Given the description of an element on the screen output the (x, y) to click on. 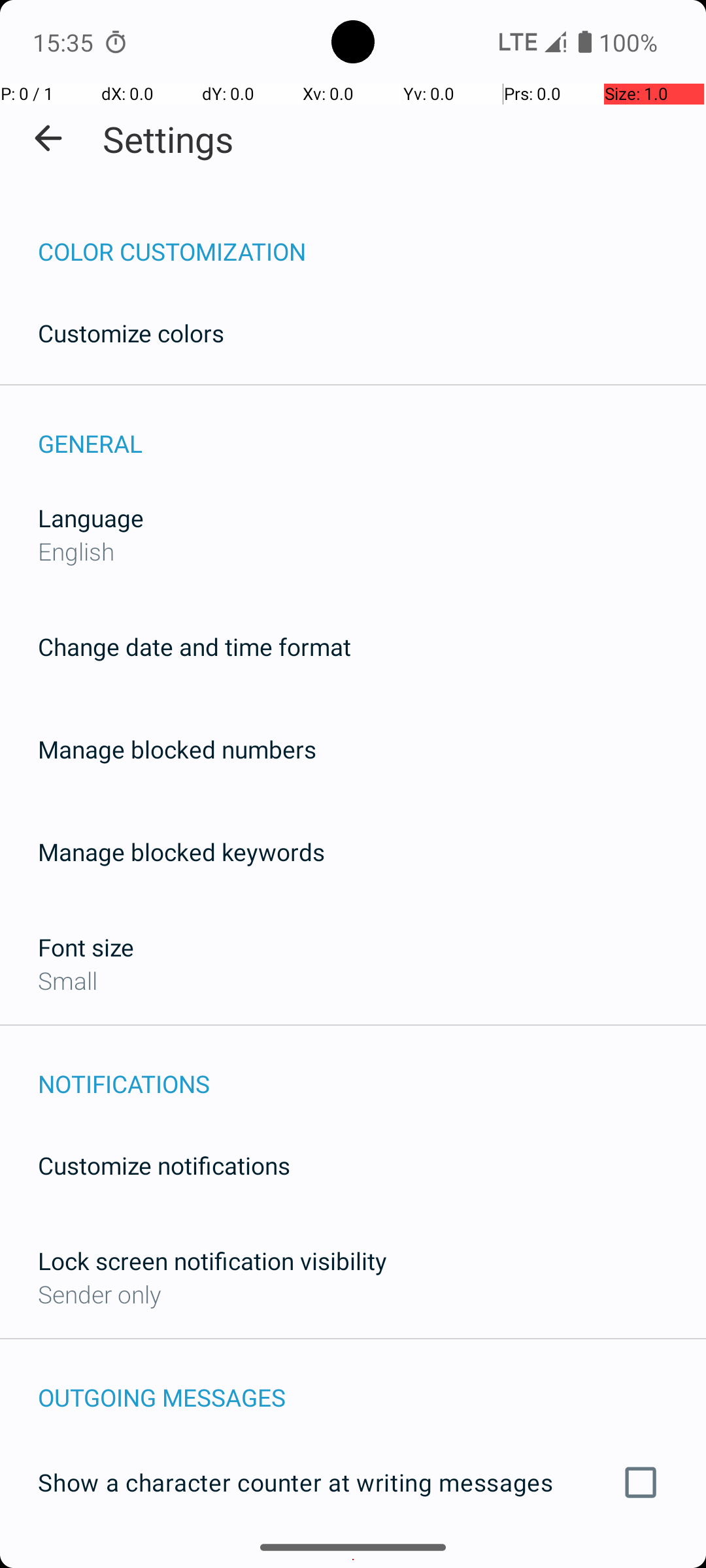
Small Element type: android.widget.TextView (67, 979)
Sender only Element type: android.widget.TextView (99, 1293)
